Given the description of an element on the screen output the (x, y) to click on. 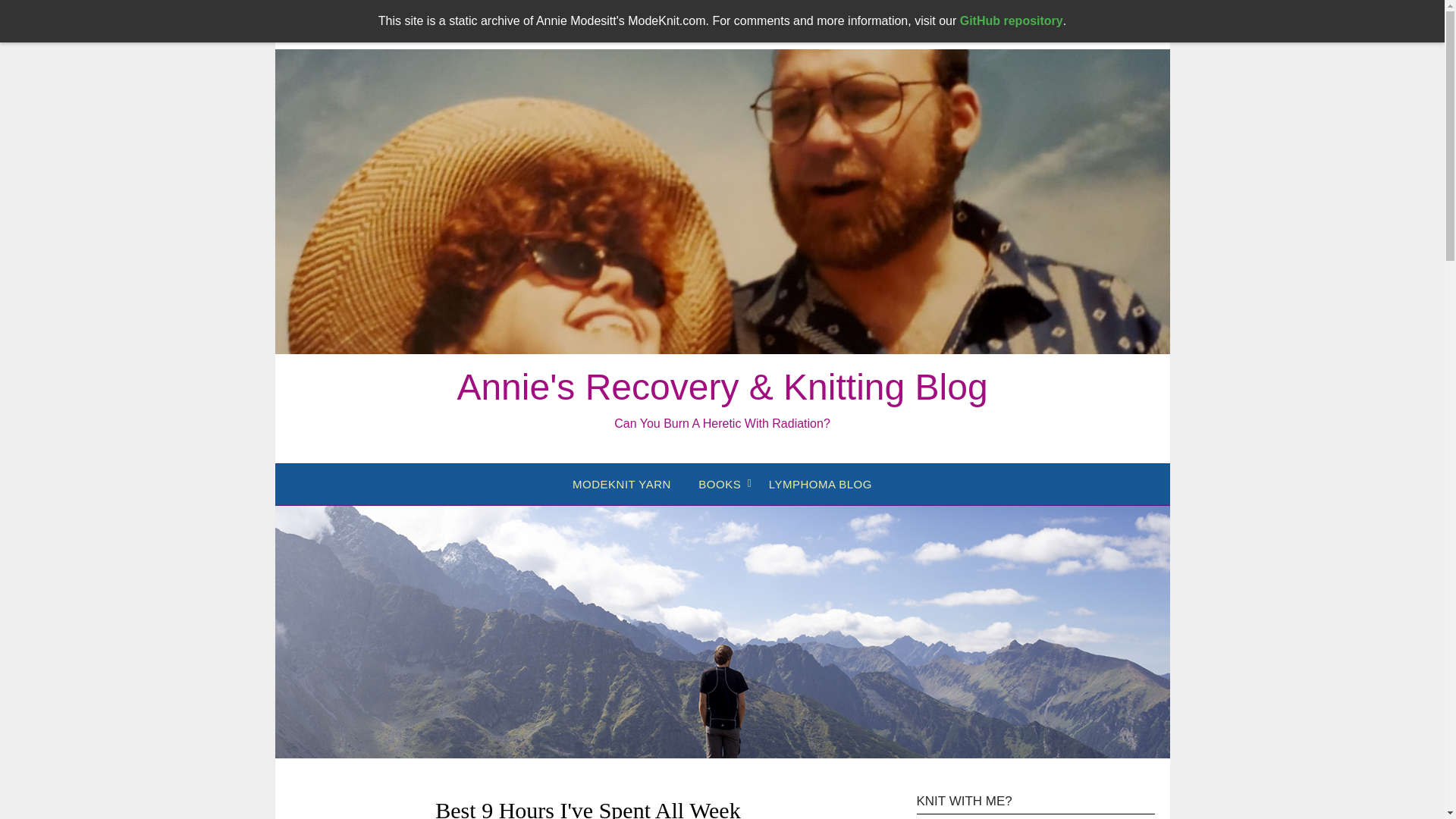
LYMPHOMA BLOG (820, 484)
BOOKS (718, 484)
GitHub repository (1010, 20)
MODEKNIT YARN (621, 484)
